Given the description of an element on the screen output the (x, y) to click on. 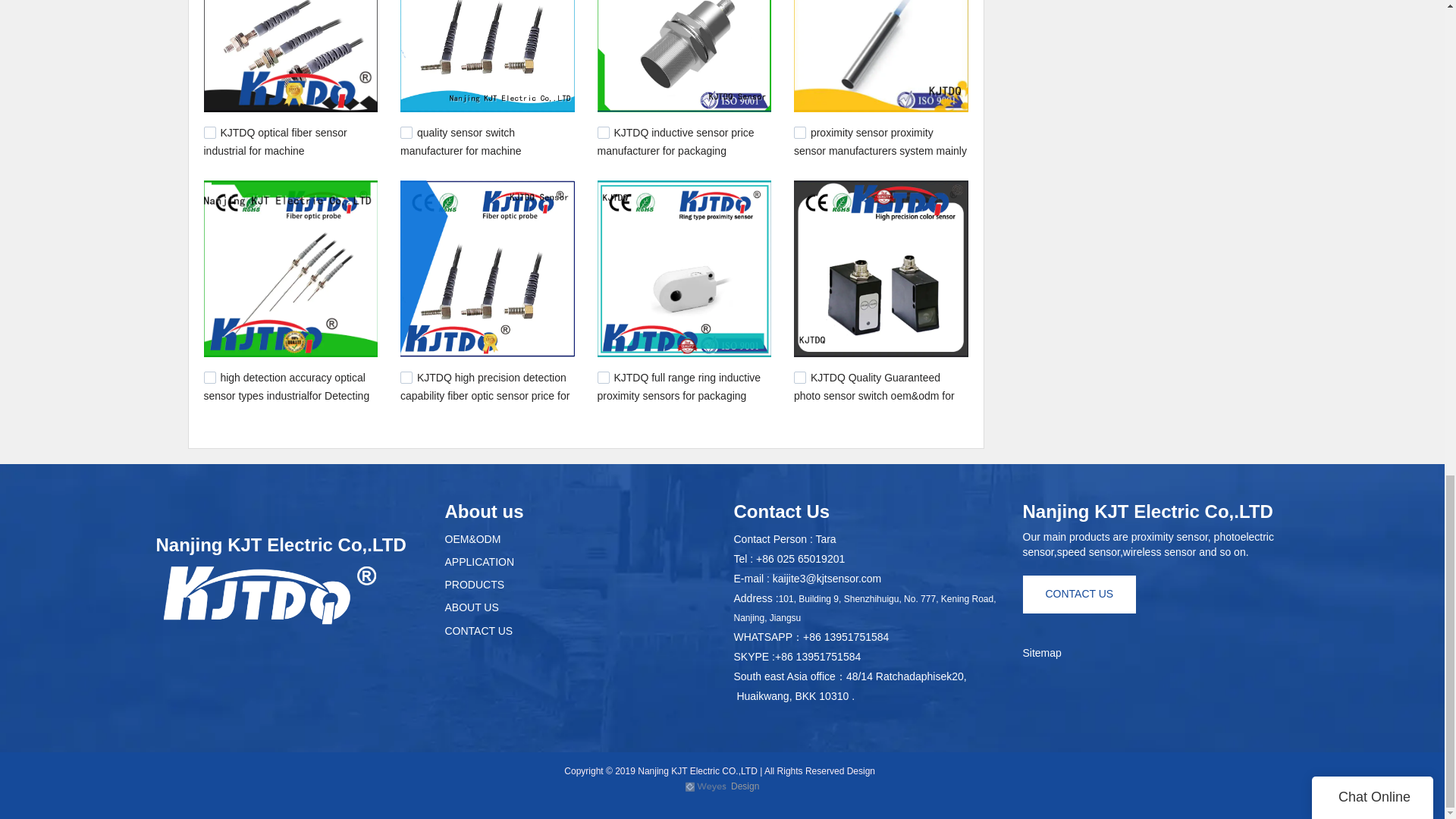
quality sensor switch manufacturer for machine (460, 141)
1824 (406, 132)
1642 (209, 377)
1643 (406, 377)
1629 (603, 377)
quality sensor switch manufacturer for machine (460, 141)
1733 (603, 132)
